Given the description of an element on the screen output the (x, y) to click on. 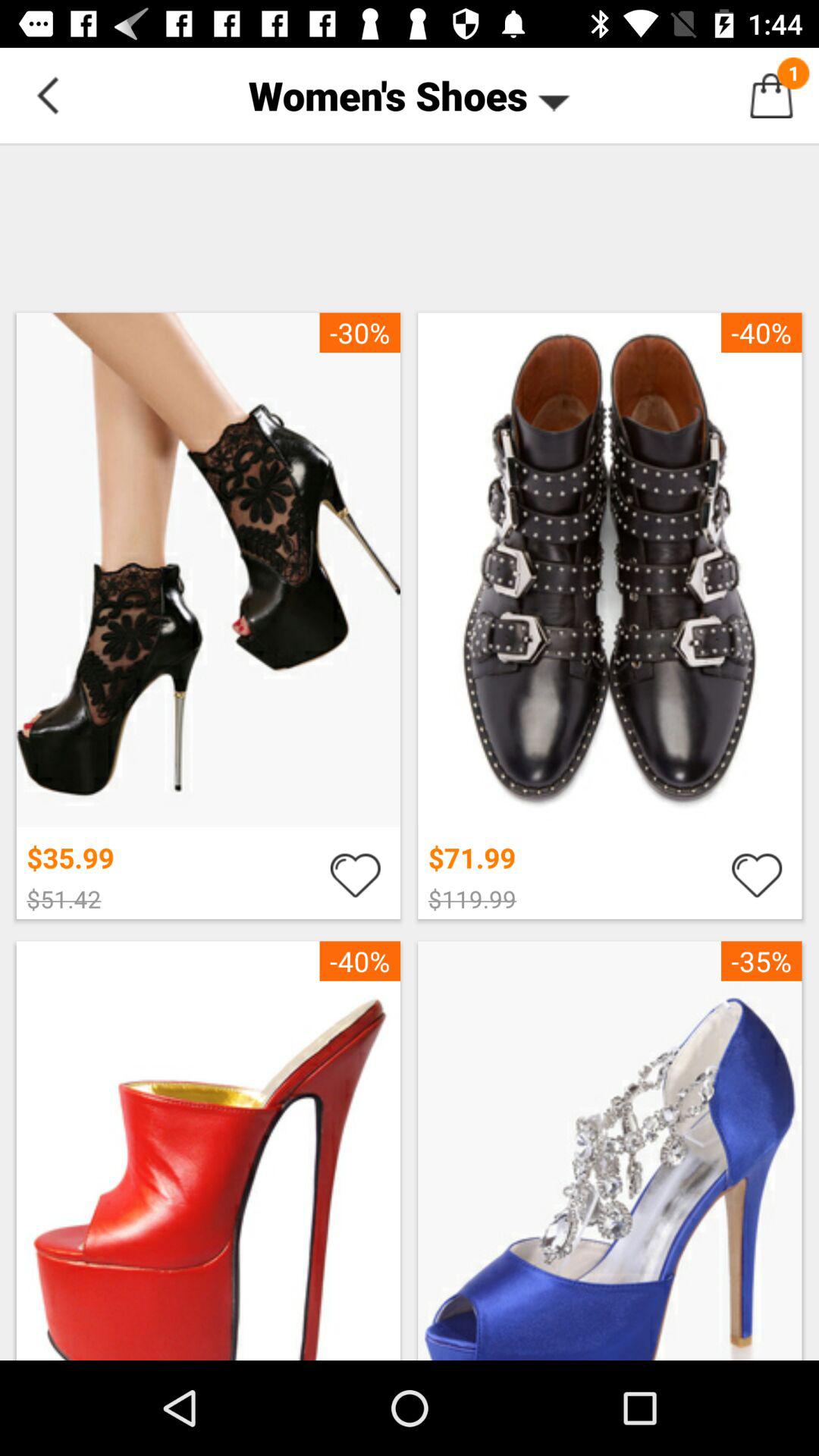
go to previous page (47, 95)
